Given the description of an element on the screen output the (x, y) to click on. 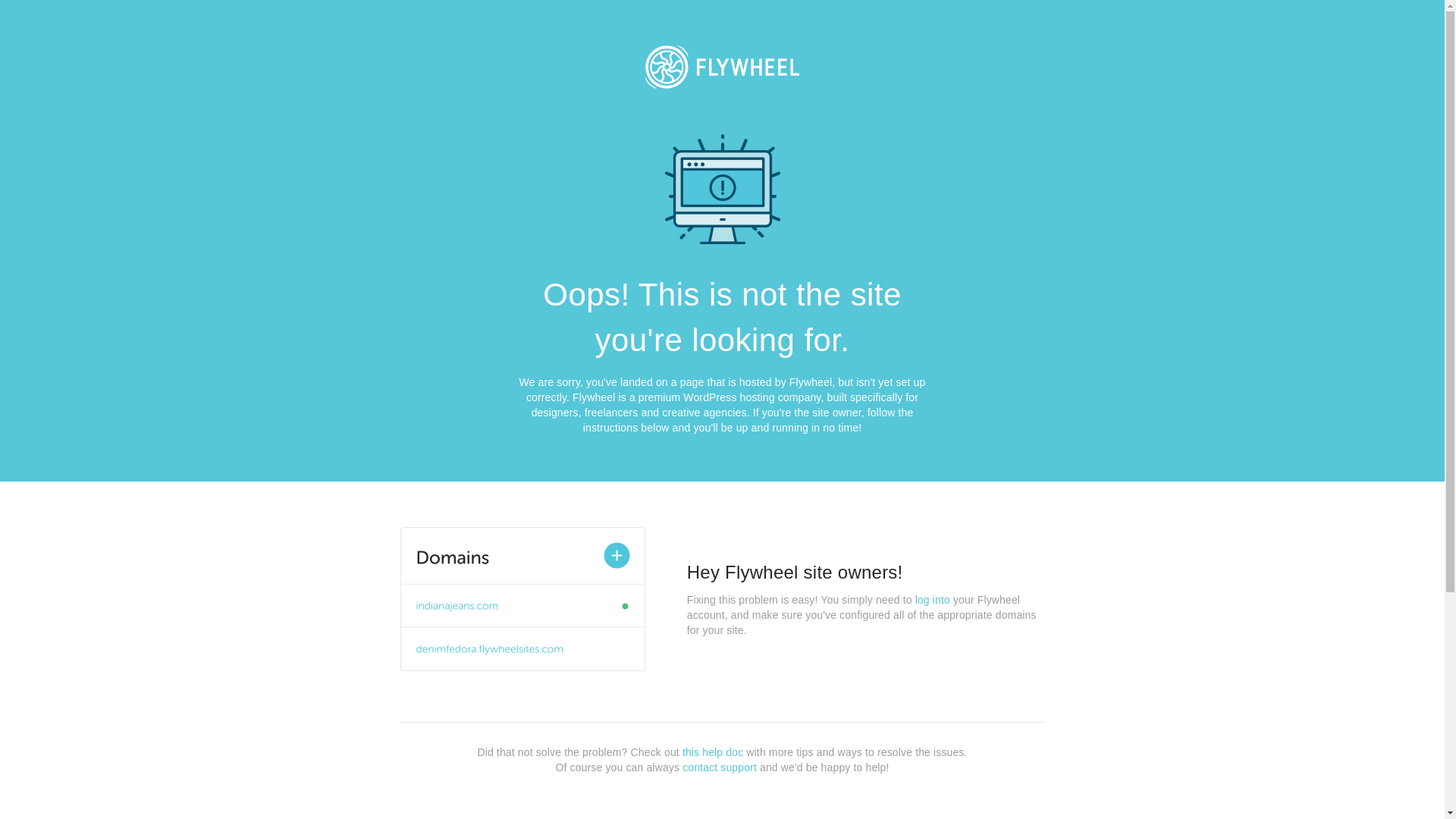
log into (932, 599)
contact support (719, 767)
this help doc (712, 752)
